Given the description of an element on the screen output the (x, y) to click on. 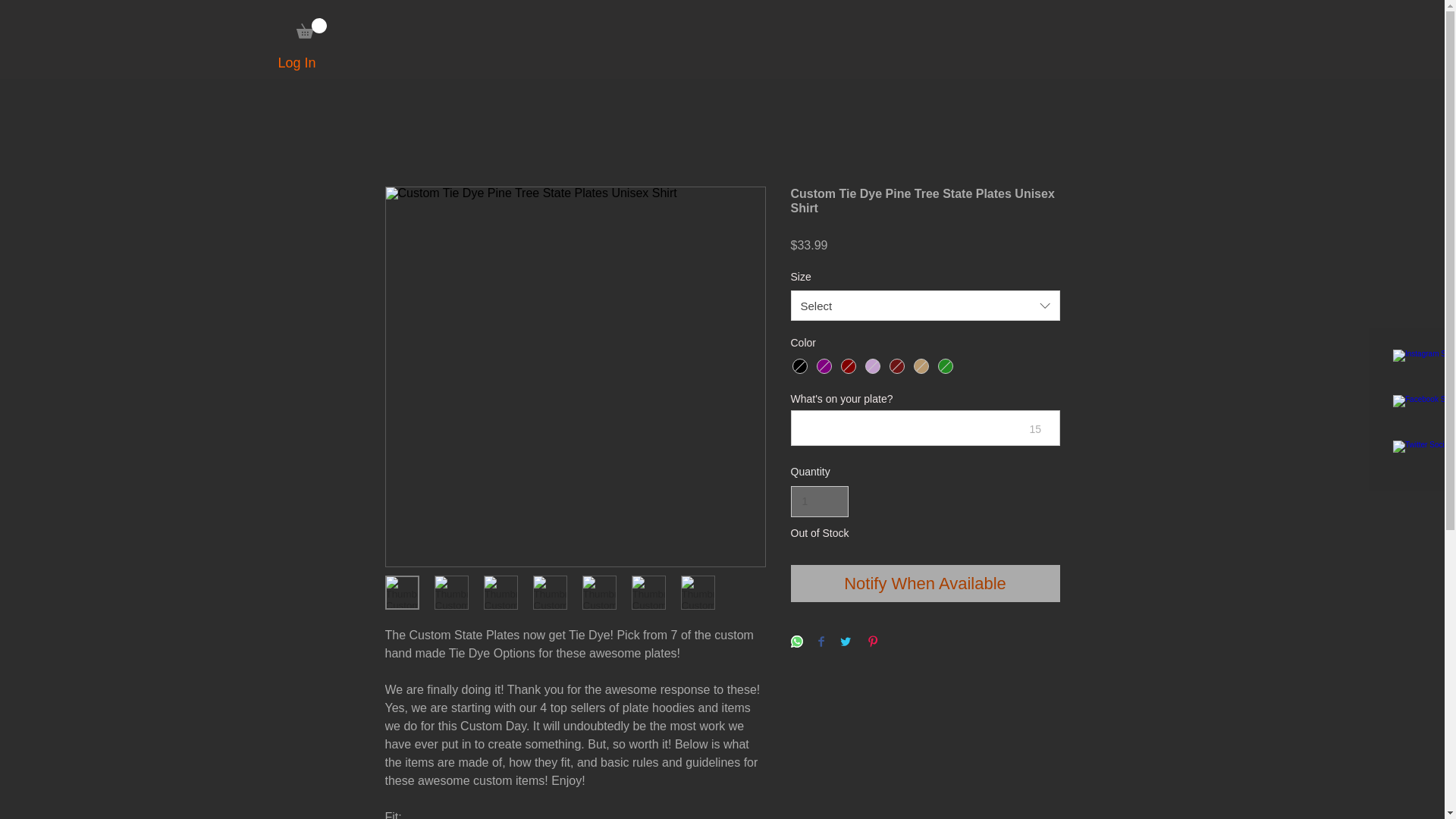
1 (818, 501)
